Given the description of an element on the screen output the (x, y) to click on. 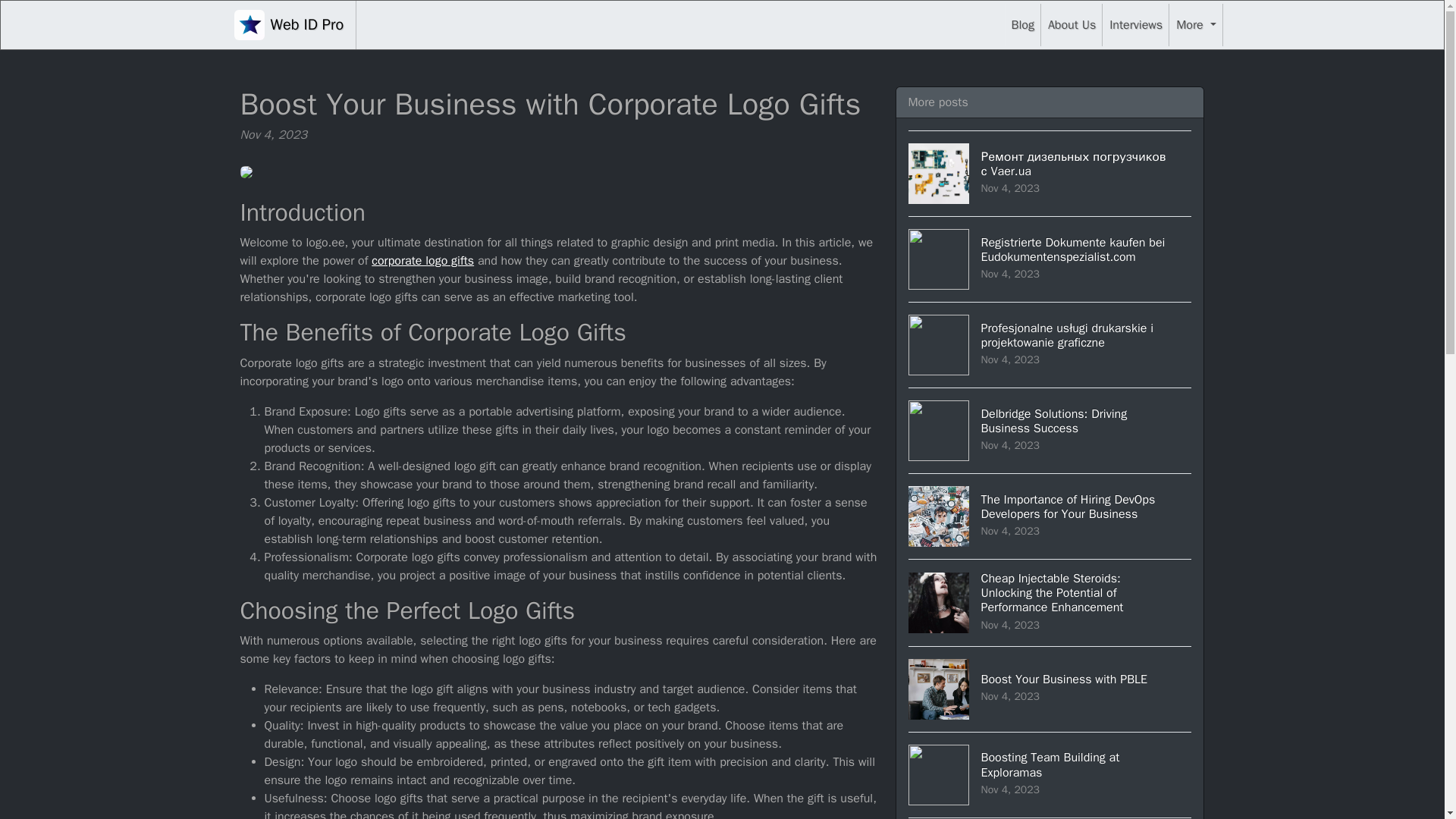
corporate logo gifts (422, 260)
Interviews (1050, 774)
Web ID Pro (1135, 24)
About Us (288, 24)
More (1071, 24)
